Given the description of an element on the screen output the (x, y) to click on. 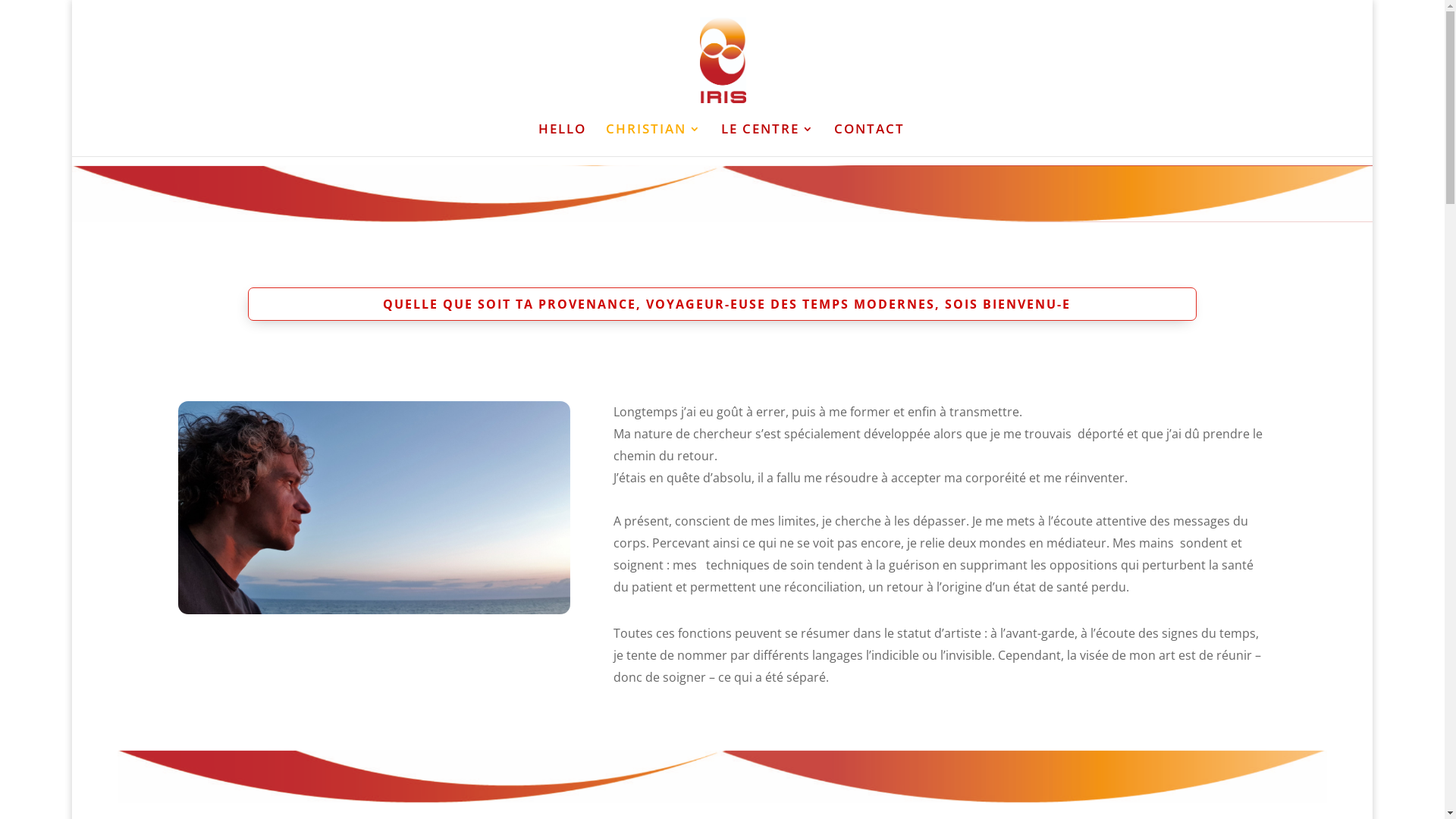
HELLO Element type: text (562, 139)
CONTACT Element type: text (869, 139)
CHRISTIAN Element type: text (653, 139)
LE CENTRE Element type: text (767, 139)
